Given the description of an element on the screen output the (x, y) to click on. 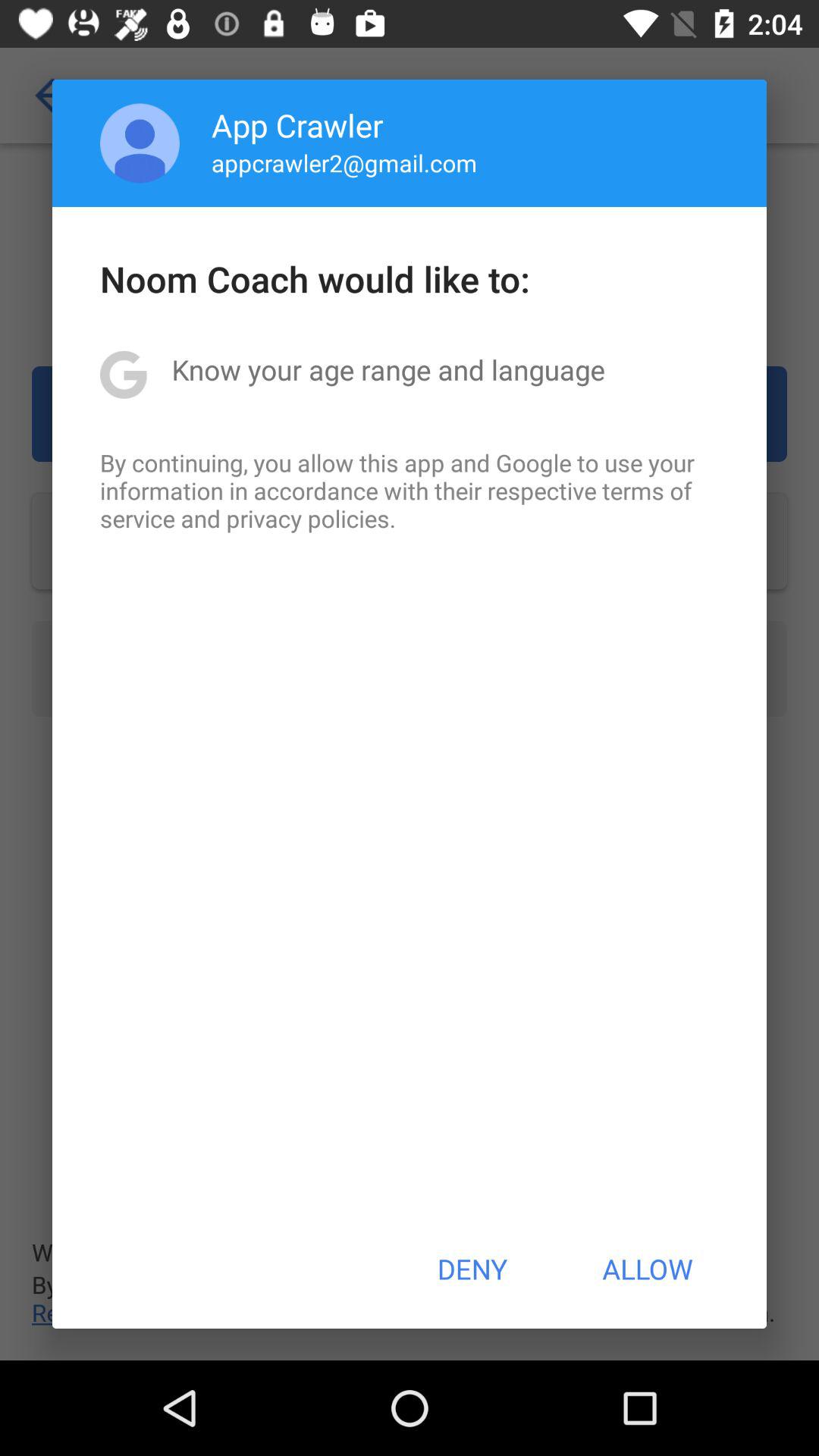
press the know your age icon (388, 369)
